Given the description of an element on the screen output the (x, y) to click on. 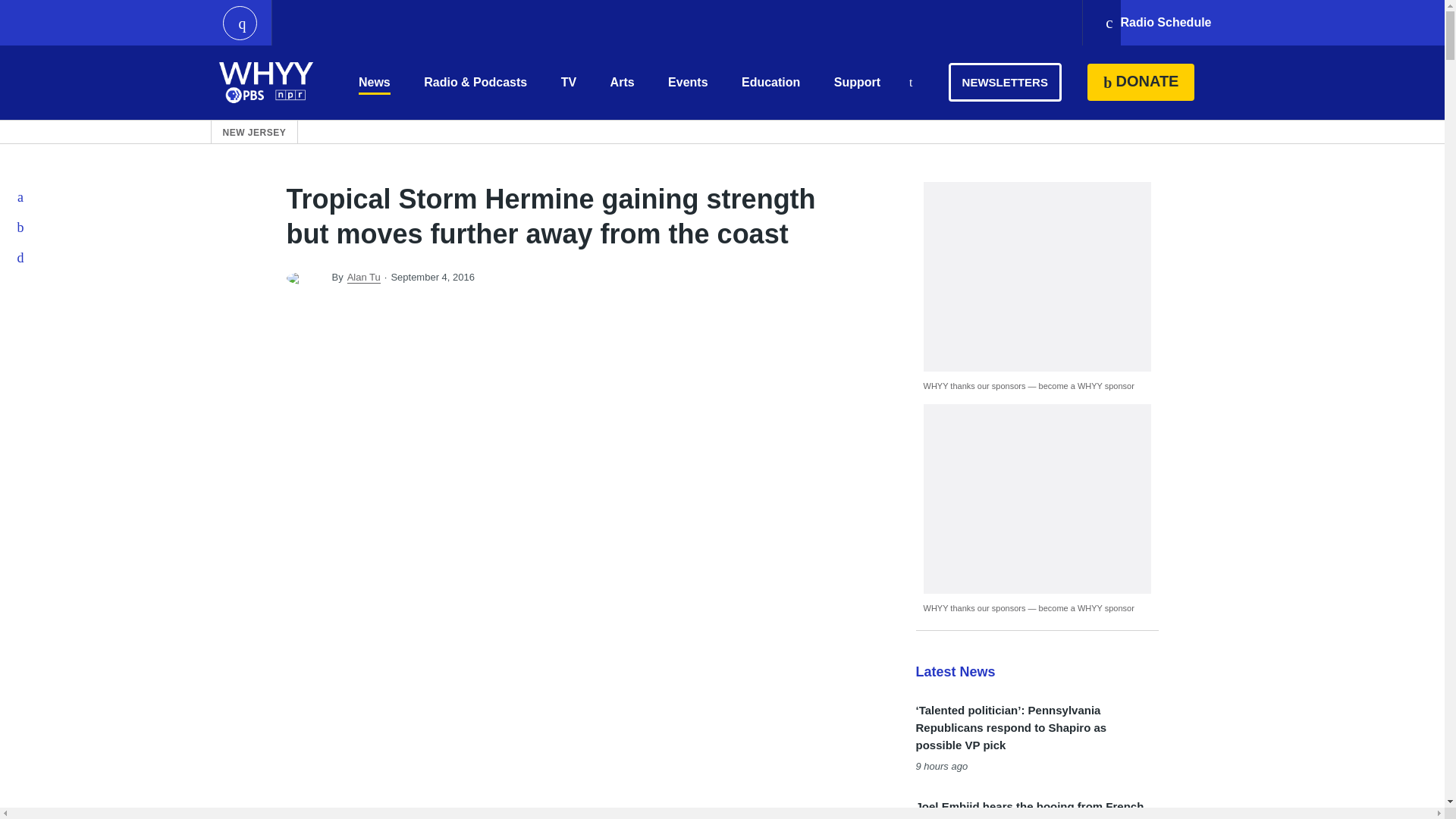
Twitter (21, 227)
Facebook (21, 196)
Email (21, 257)
Email (21, 257)
Search (910, 83)
Facebook (21, 196)
Twitter (21, 227)
Radio Schedule (1157, 22)
NEW JERSEY (254, 132)
